Given the description of an element on the screen output the (x, y) to click on. 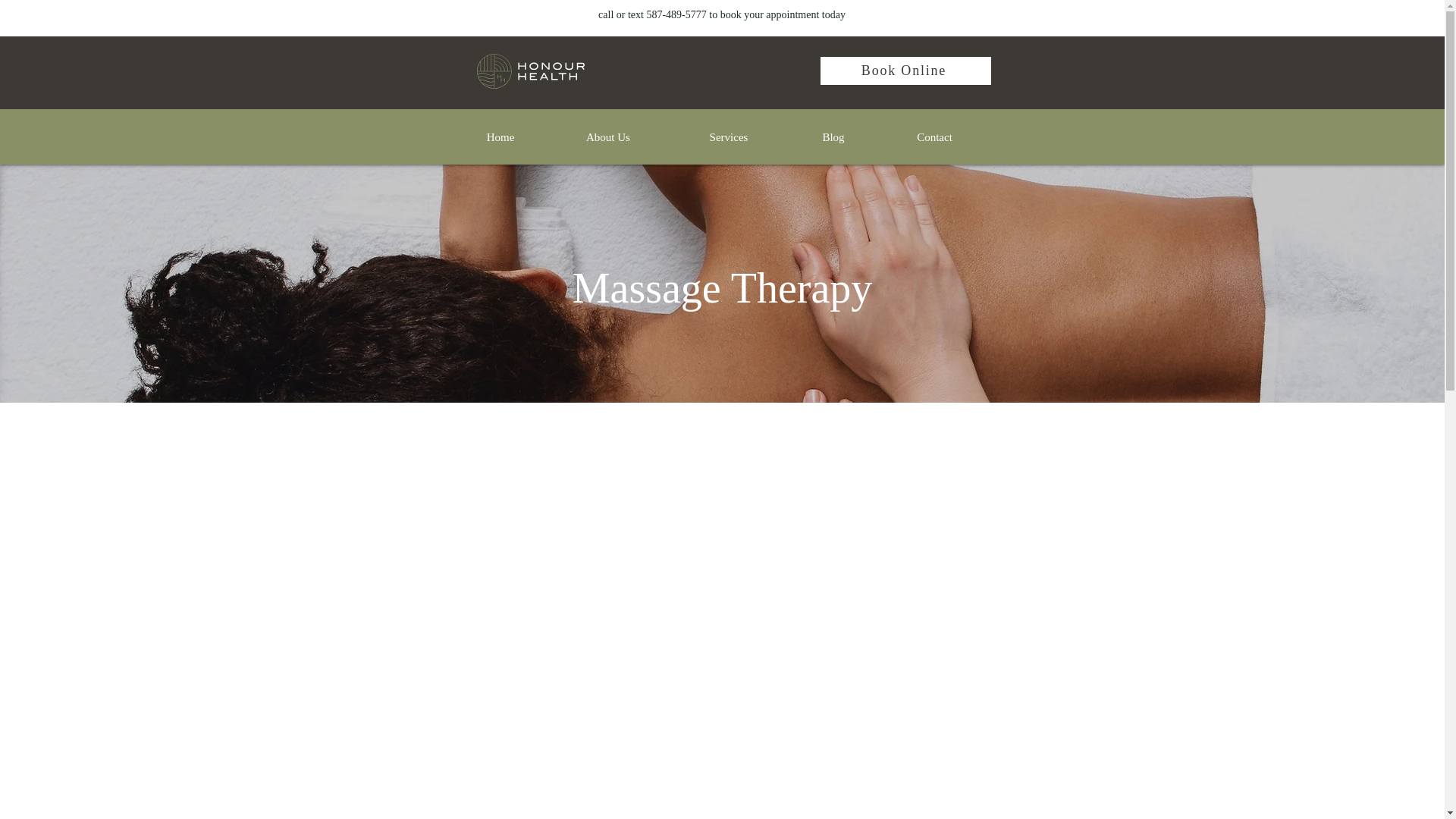
Book Online (906, 70)
Contact (933, 136)
587-489-5777 (676, 14)
Blog (834, 136)
Home (499, 136)
